Given the description of an element on the screen output the (x, y) to click on. 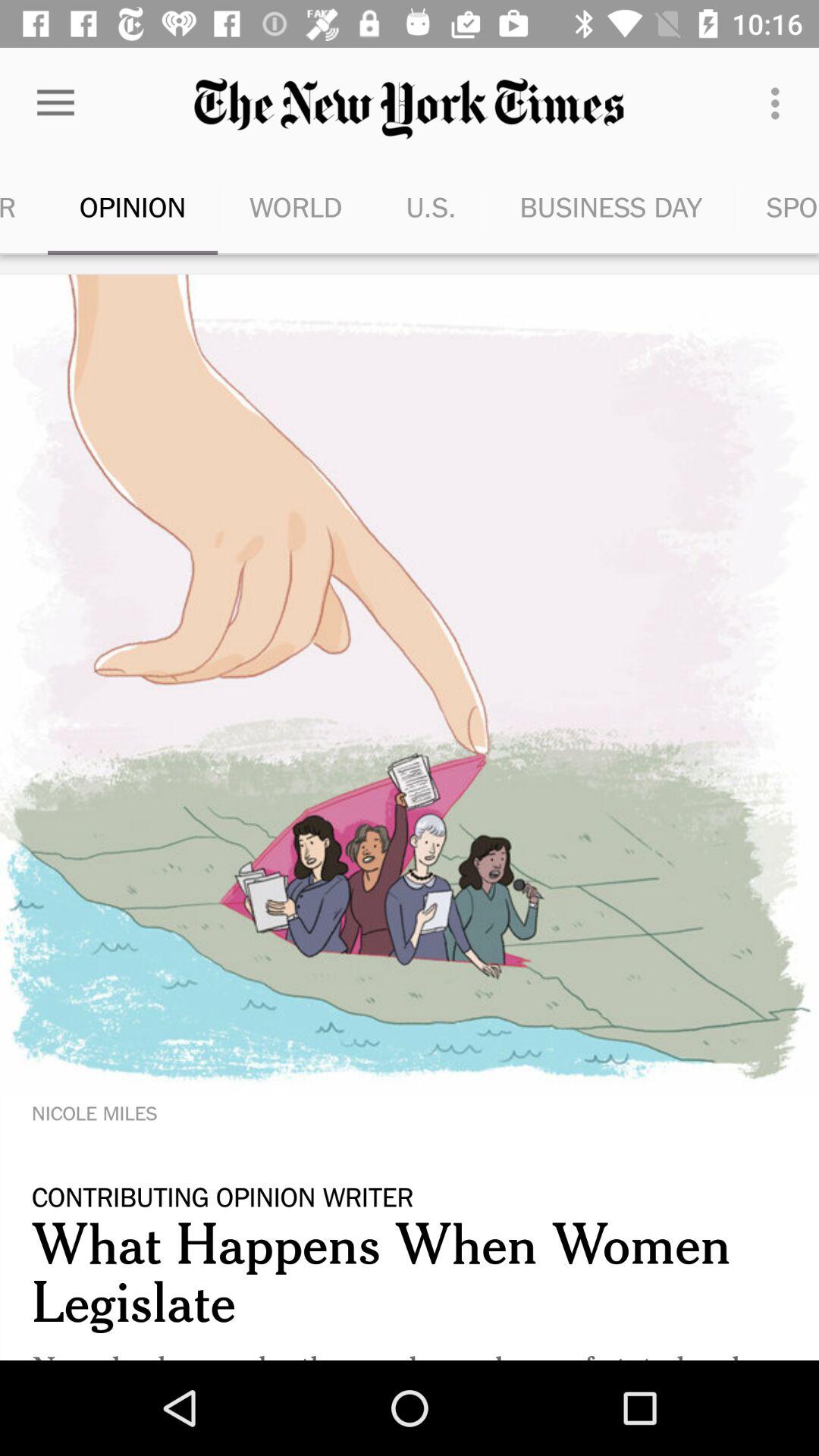
turn on item next to the business day item (779, 103)
